Given the description of an element on the screen output the (x, y) to click on. 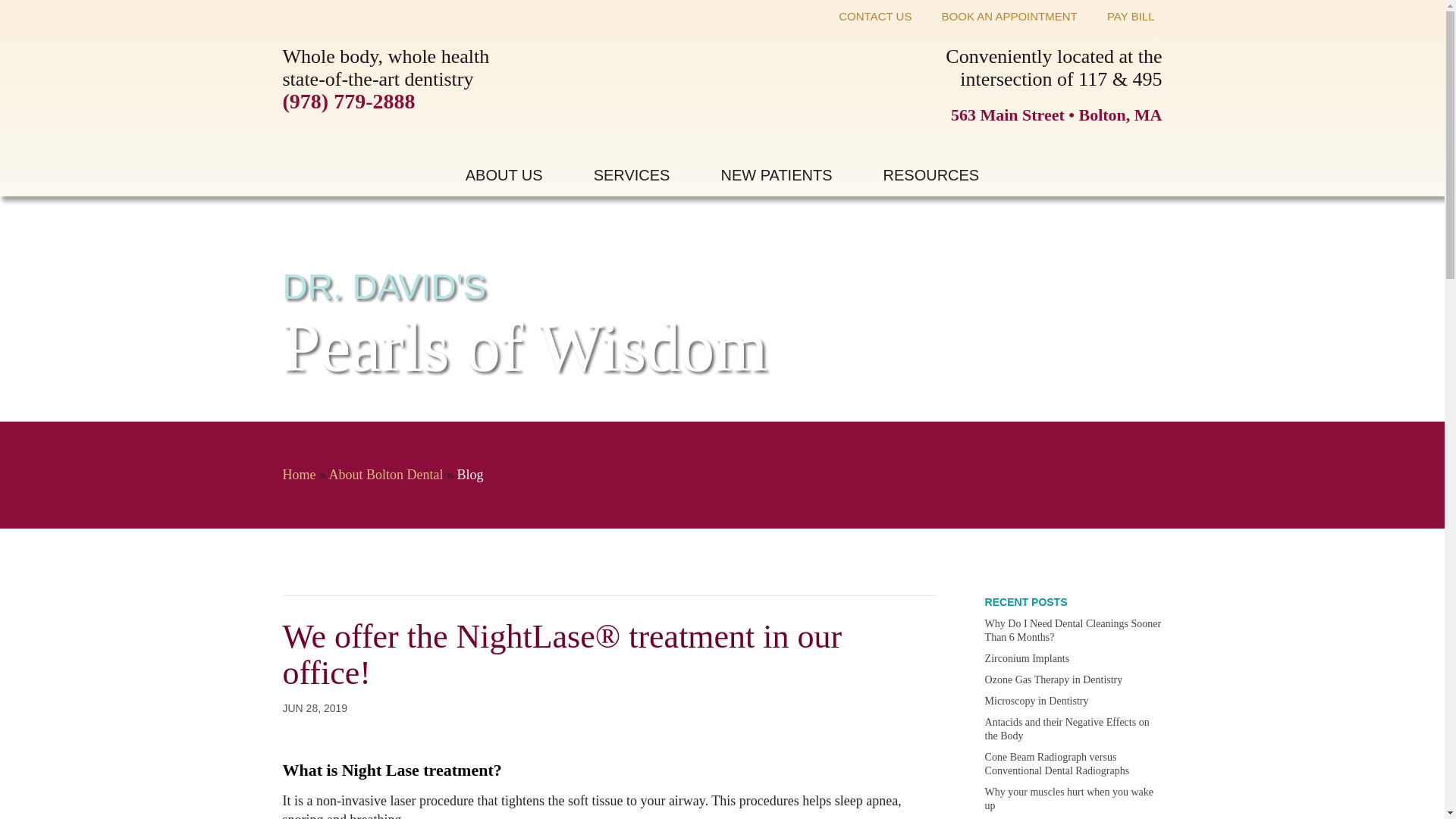
SERVICES (631, 175)
CONTACT US (874, 16)
PAY BILL (1130, 16)
BOOK AN APPOINTMENT (1009, 16)
ABOUT US (503, 175)
